Given the description of an element on the screen output the (x, y) to click on. 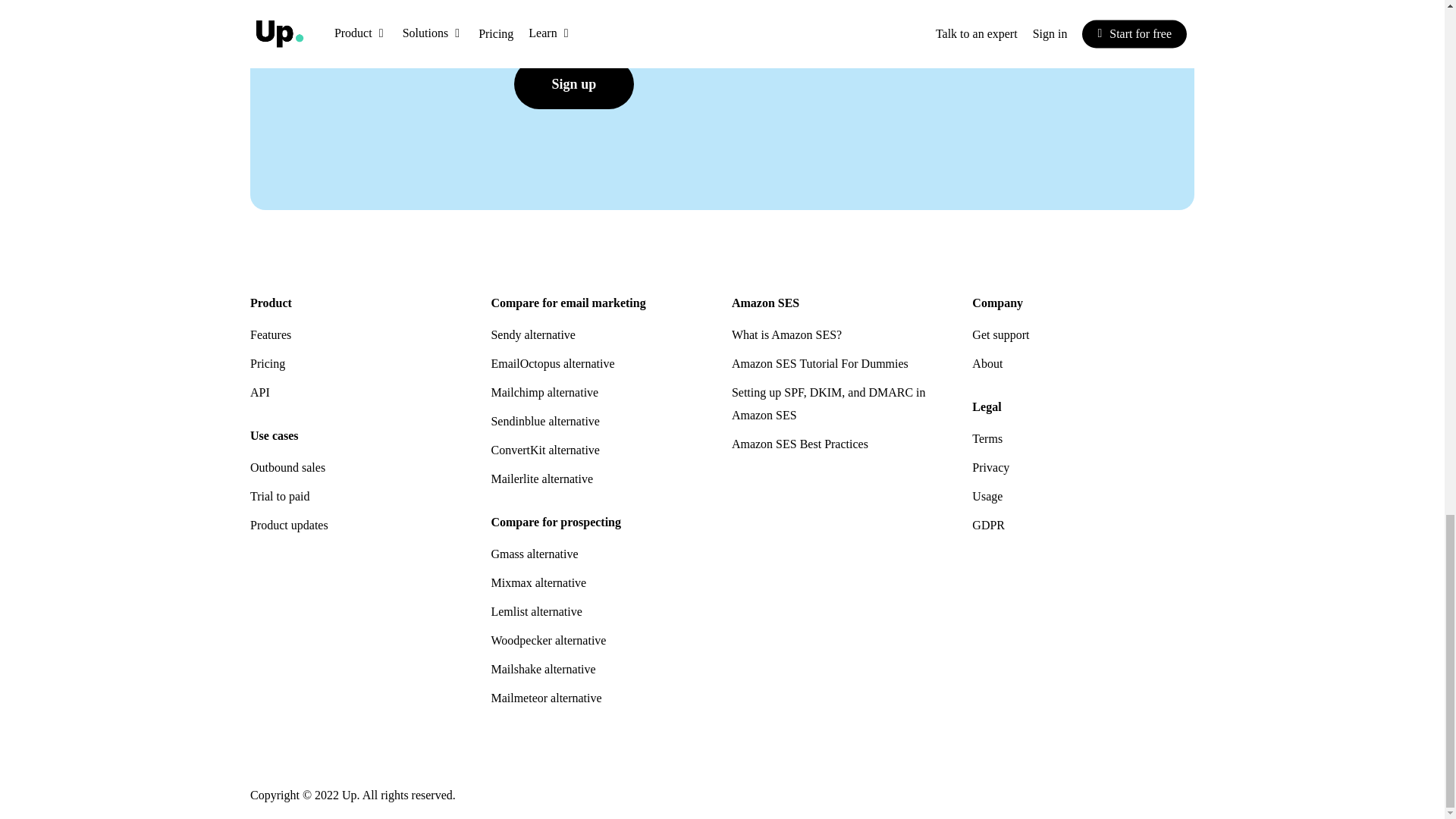
API (360, 392)
Pricing (360, 363)
Sign up (573, 83)
Product updates (360, 525)
Trial to paid (360, 496)
Features (360, 334)
Outbound sales (360, 467)
